Given the description of an element on the screen output the (x, y) to click on. 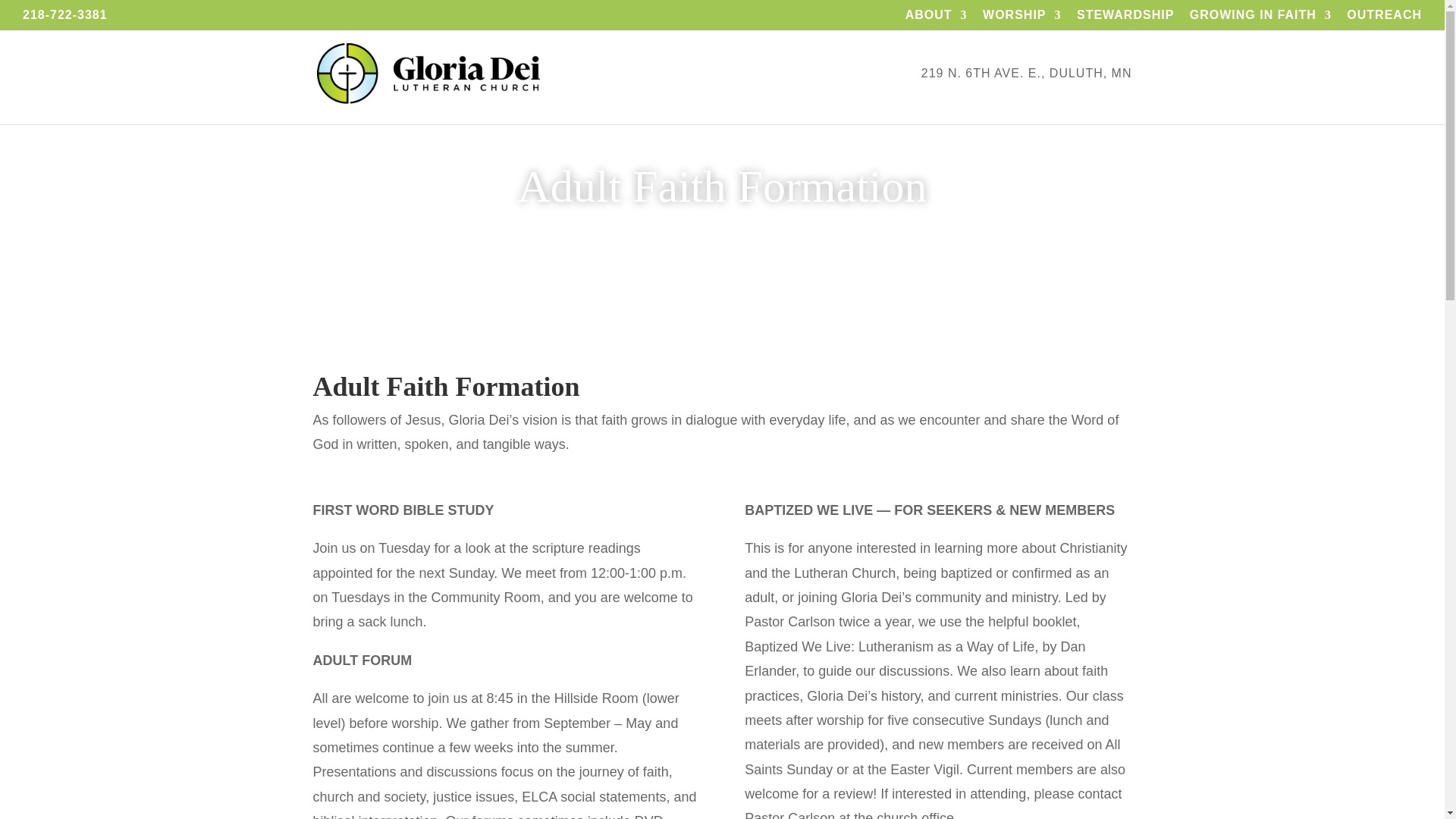
STEWARDSHIP (1125, 19)
219 N. 6TH AVE. E., DULUTH, MN (1026, 95)
GROWING IN FAITH (1260, 19)
OUTREACH (1384, 19)
ABOUT (936, 19)
WORSHIP (1021, 19)
